Given the description of an element on the screen output the (x, y) to click on. 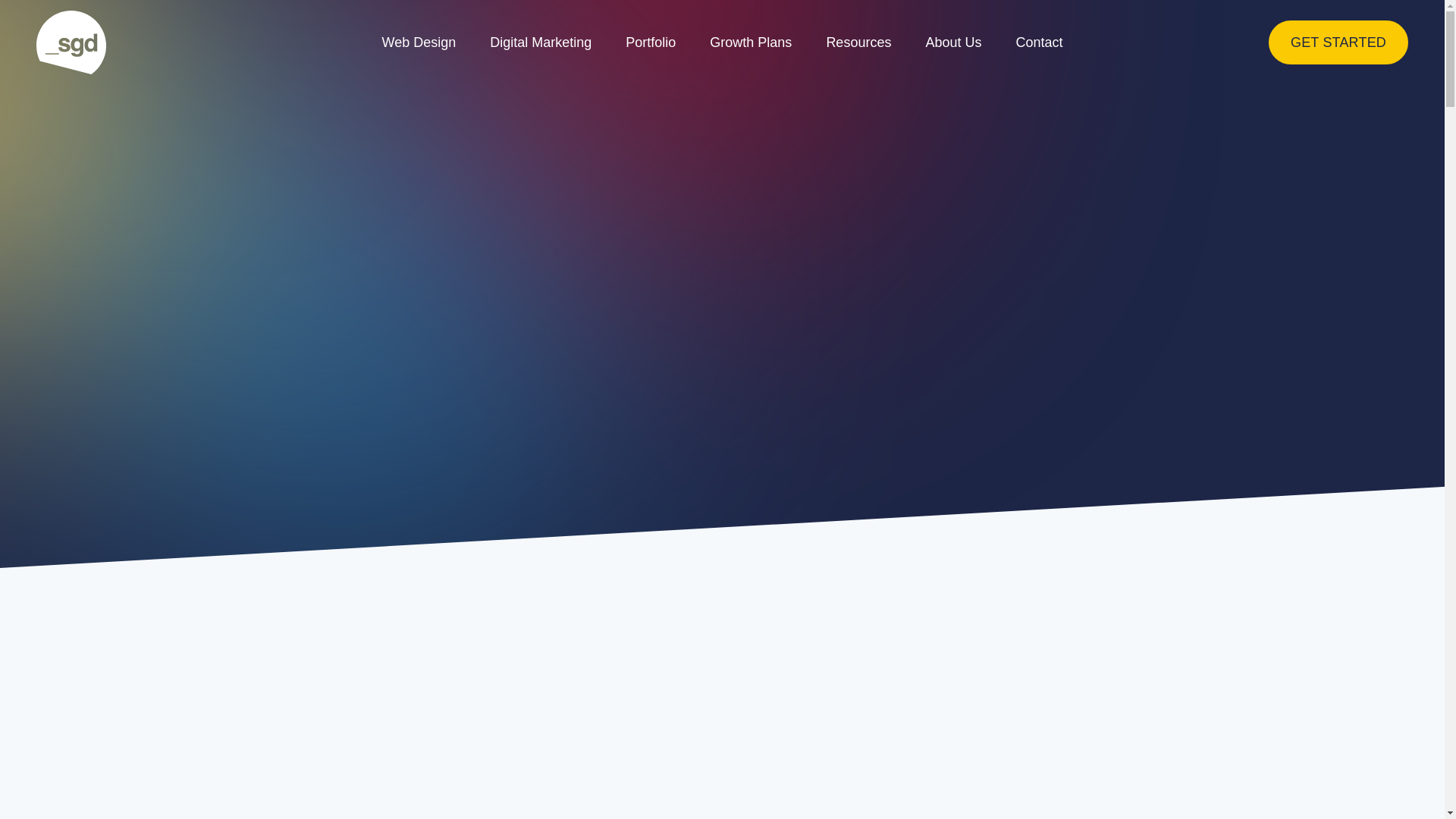
Web Design (419, 42)
Resources (858, 42)
Contact (1039, 42)
Portfolio (650, 42)
About Us (953, 42)
Growth Plans (751, 42)
GET STARTED (1337, 42)
Digital Marketing (540, 42)
